Given the description of an element on the screen output the (x, y) to click on. 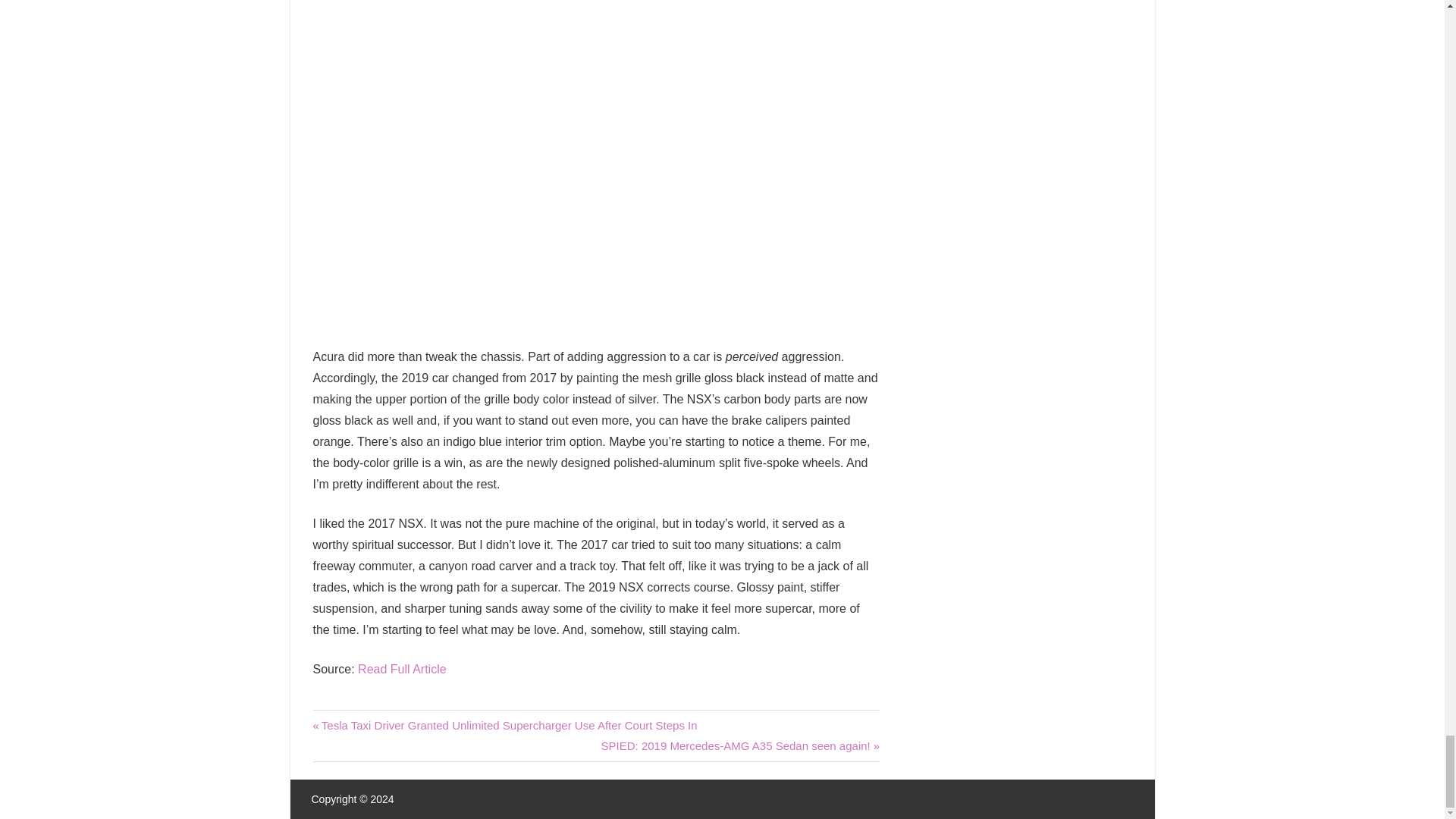
Read Full Article (402, 668)
